Given the description of an element on the screen output the (x, y) to click on. 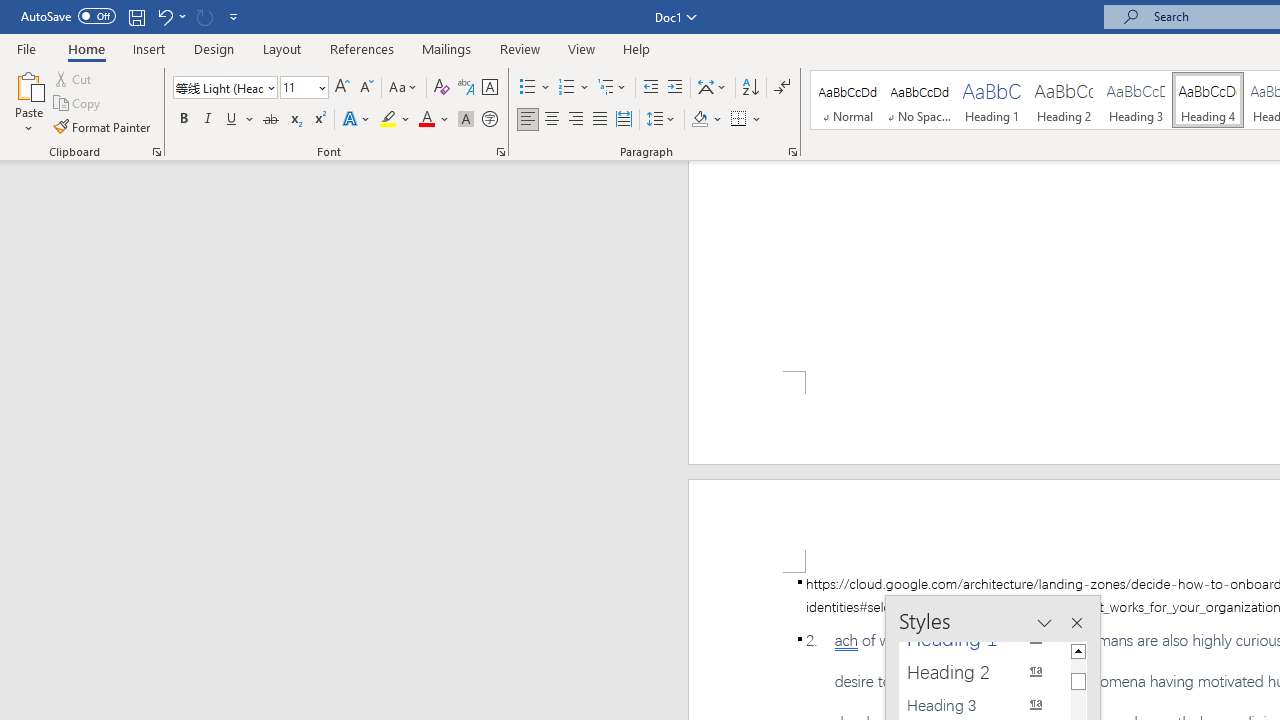
Copy (78, 103)
Heading 3 (1135, 100)
Design (214, 48)
Insert (149, 48)
Undo Style (164, 15)
Numbering (573, 87)
Strikethrough (270, 119)
Change Case (404, 87)
